Given the description of an element on the screen output the (x, y) to click on. 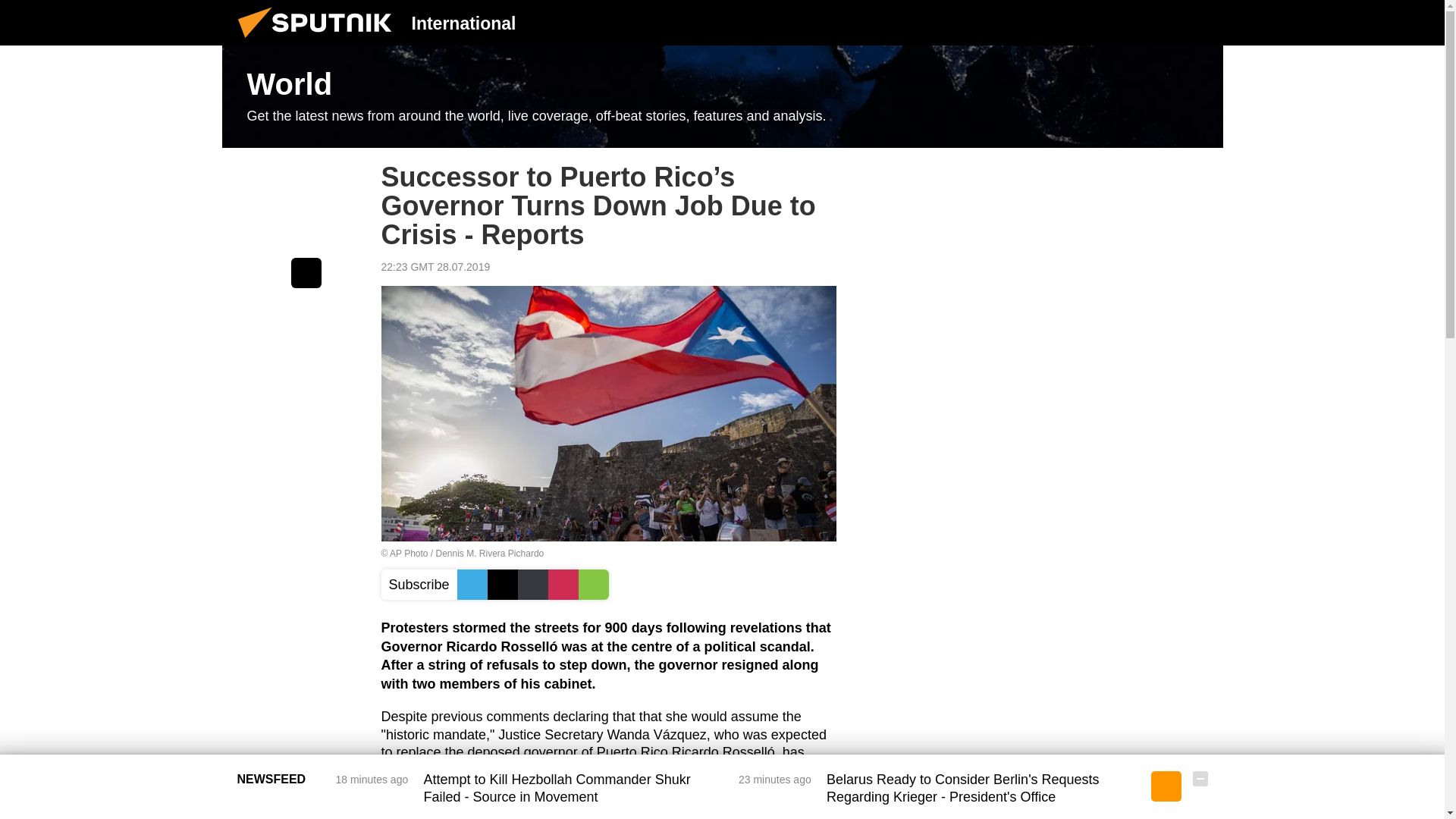
World (722, 96)
Sputnik International (319, 41)
Authorization (1123, 22)
Chats (1199, 22)
